Given the description of an element on the screen output the (x, y) to click on. 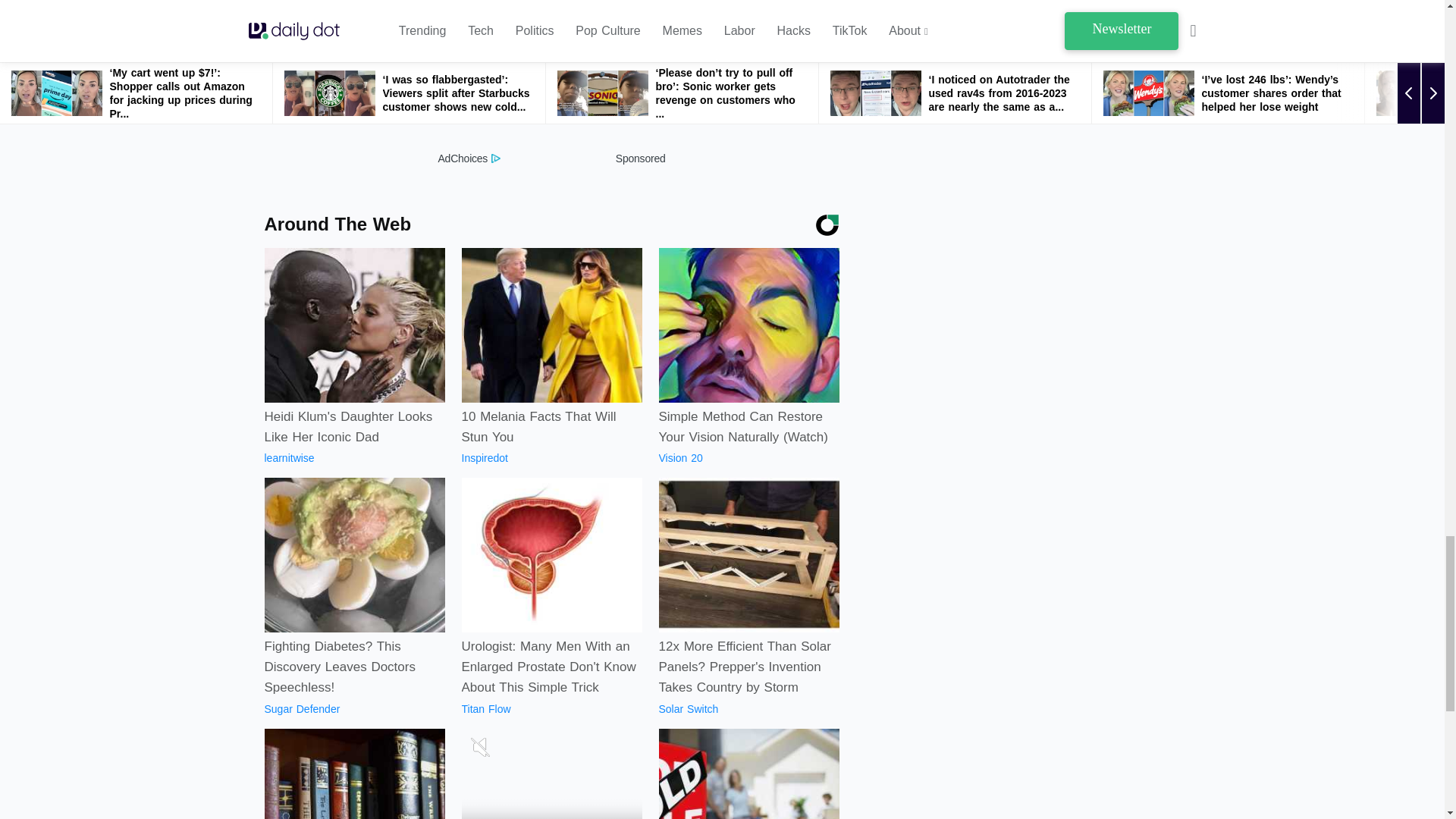
ad content (551, 74)
